Given the description of an element on the screen output the (x, y) to click on. 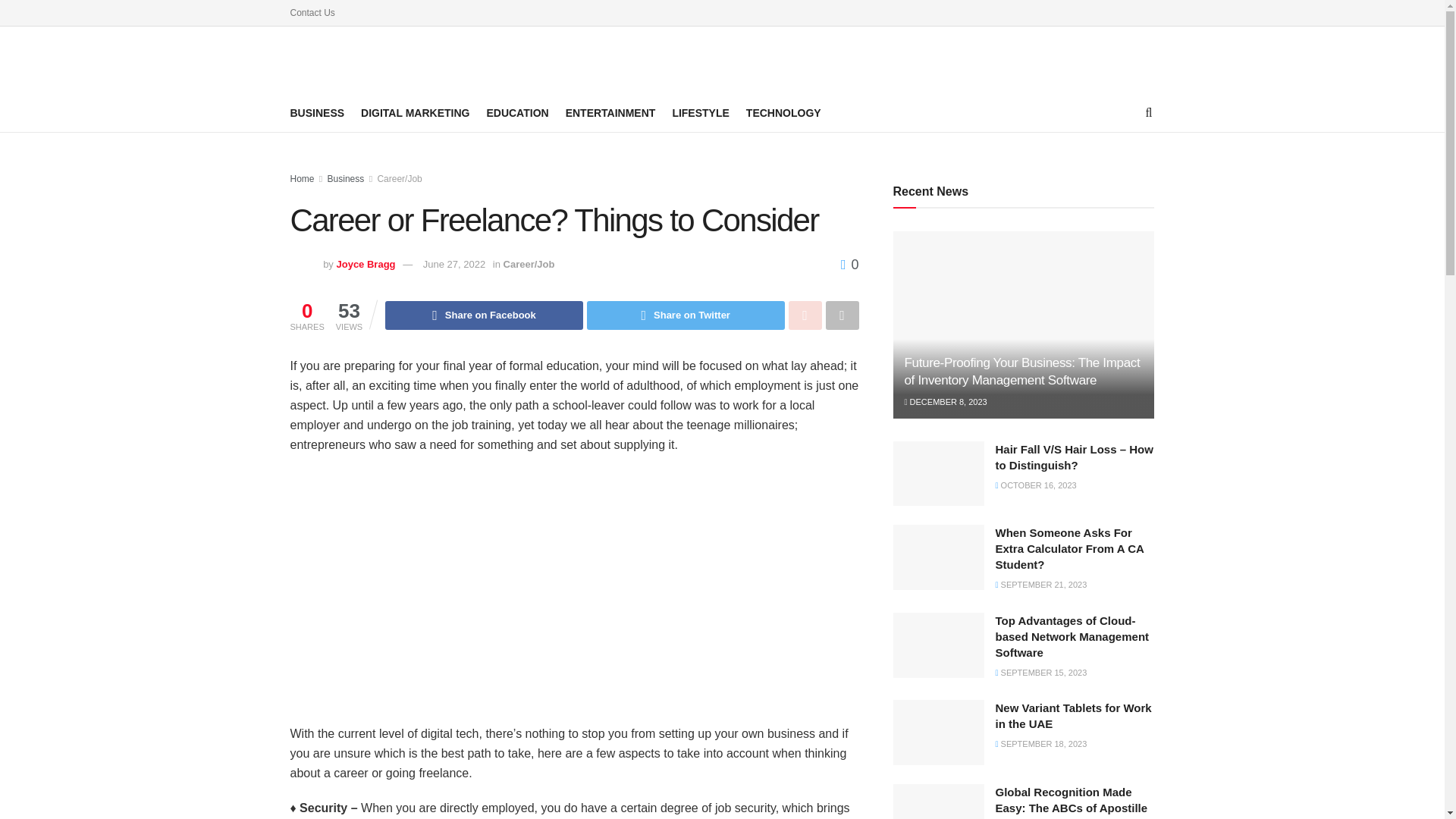
EDUCATION (517, 112)
Contact Us (311, 12)
BUSINESS (316, 112)
ENTERTAINMENT (611, 112)
TECHNOLOGY (783, 112)
LIFESTYLE (700, 112)
DIGITAL MARKETING (414, 112)
